Given the description of an element on the screen output the (x, y) to click on. 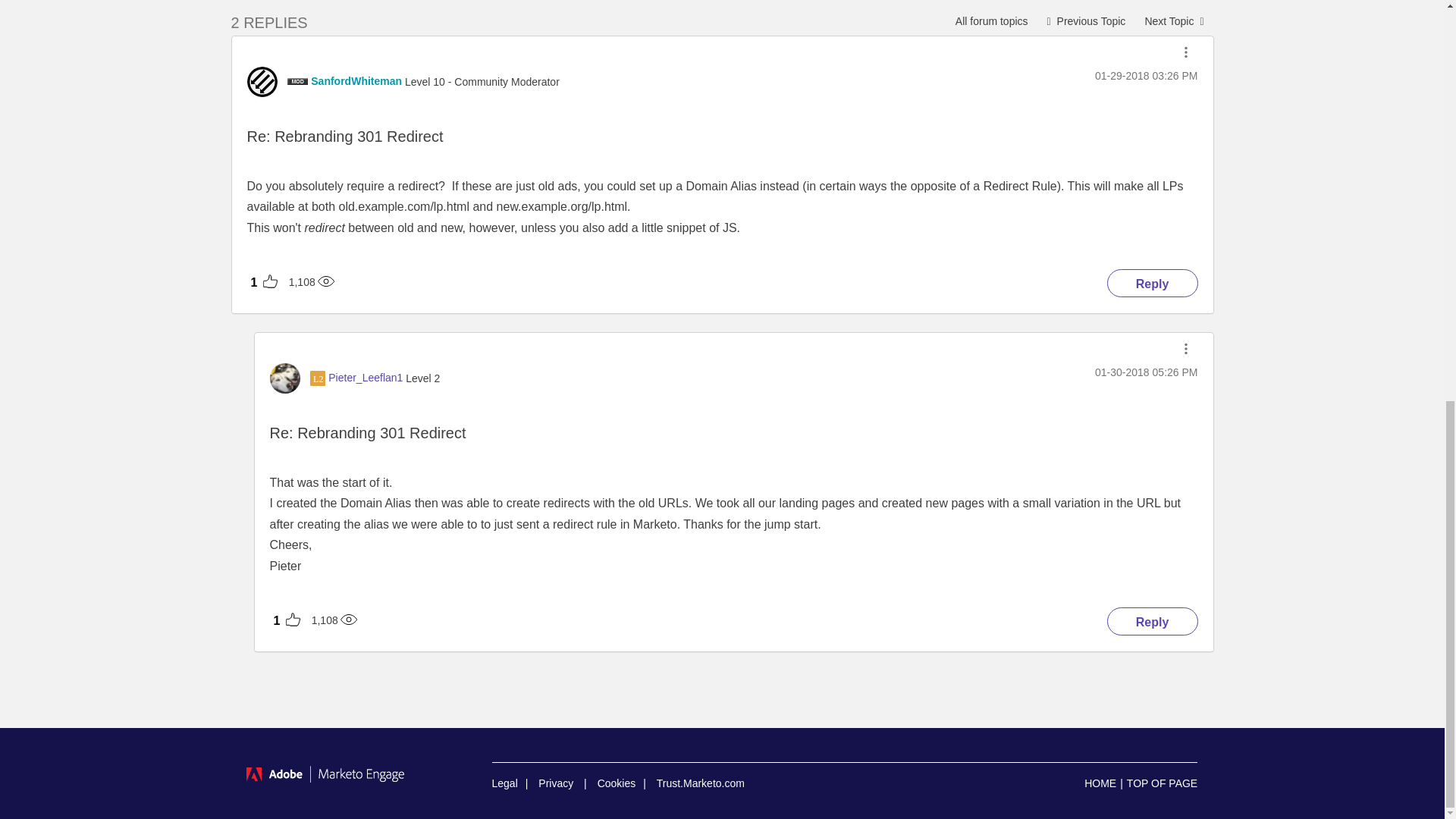
Show option menu (1185, 52)
Previous Topic (1085, 20)
Posted on (1145, 75)
Product Discussions (991, 20)
SanfordWhiteman (262, 81)
Next Topic (1173, 20)
TOP (1161, 782)
SanfordWhiteman (356, 80)
TOP (1161, 782)
Level 10 - Community Moderator (296, 81)
All forum topics (991, 20)
